Given the description of an element on the screen output the (x, y) to click on. 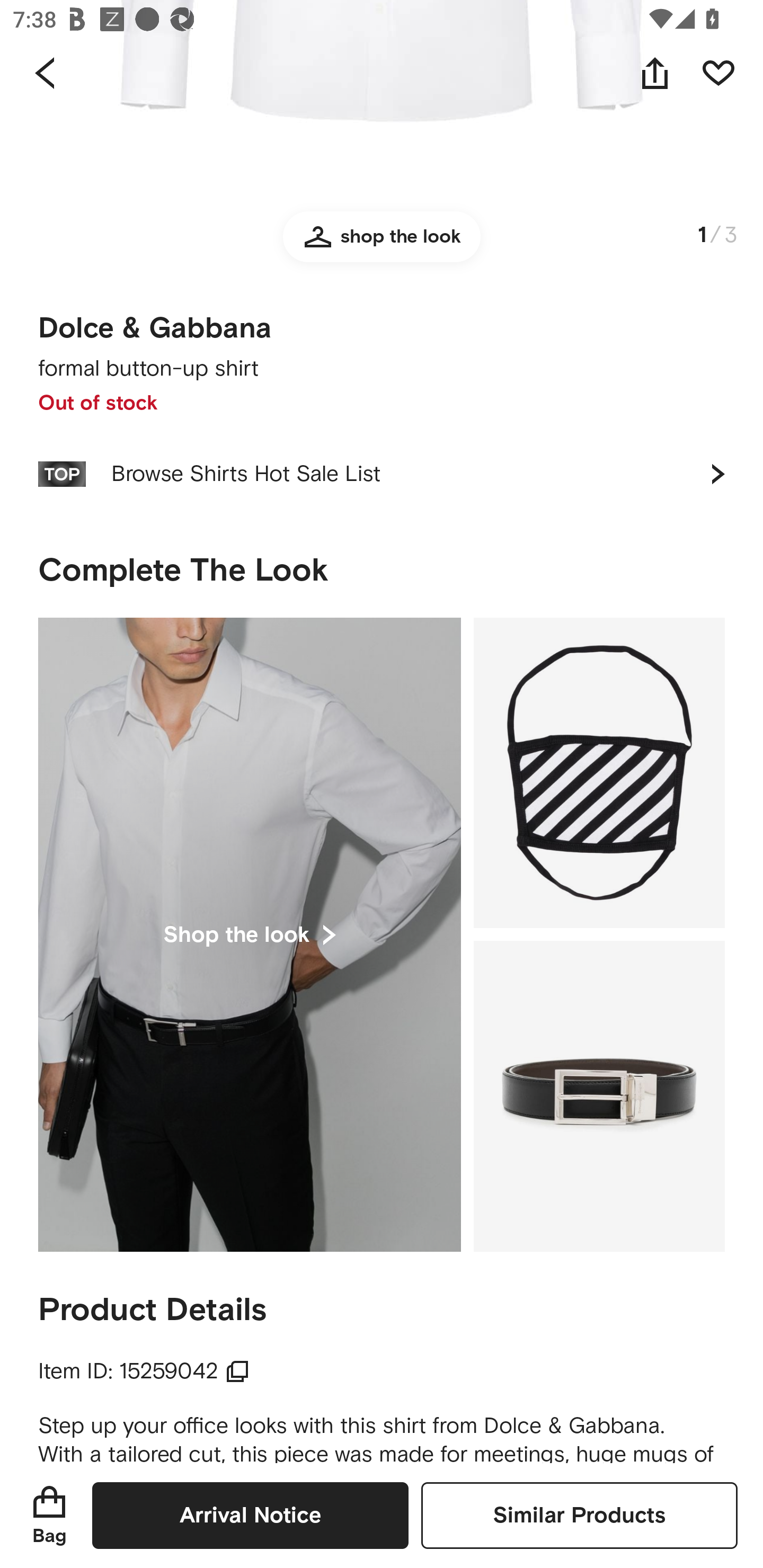
shop the look (381, 244)
Dolce & Gabbana (155, 328)
Browse Shirts Hot Sale List (381, 473)
Item ID: 15259042 (144, 1371)
Bag (49, 1515)
Arrival Notice (250, 1515)
Similar Products (579, 1515)
